Given the description of an element on the screen output the (x, y) to click on. 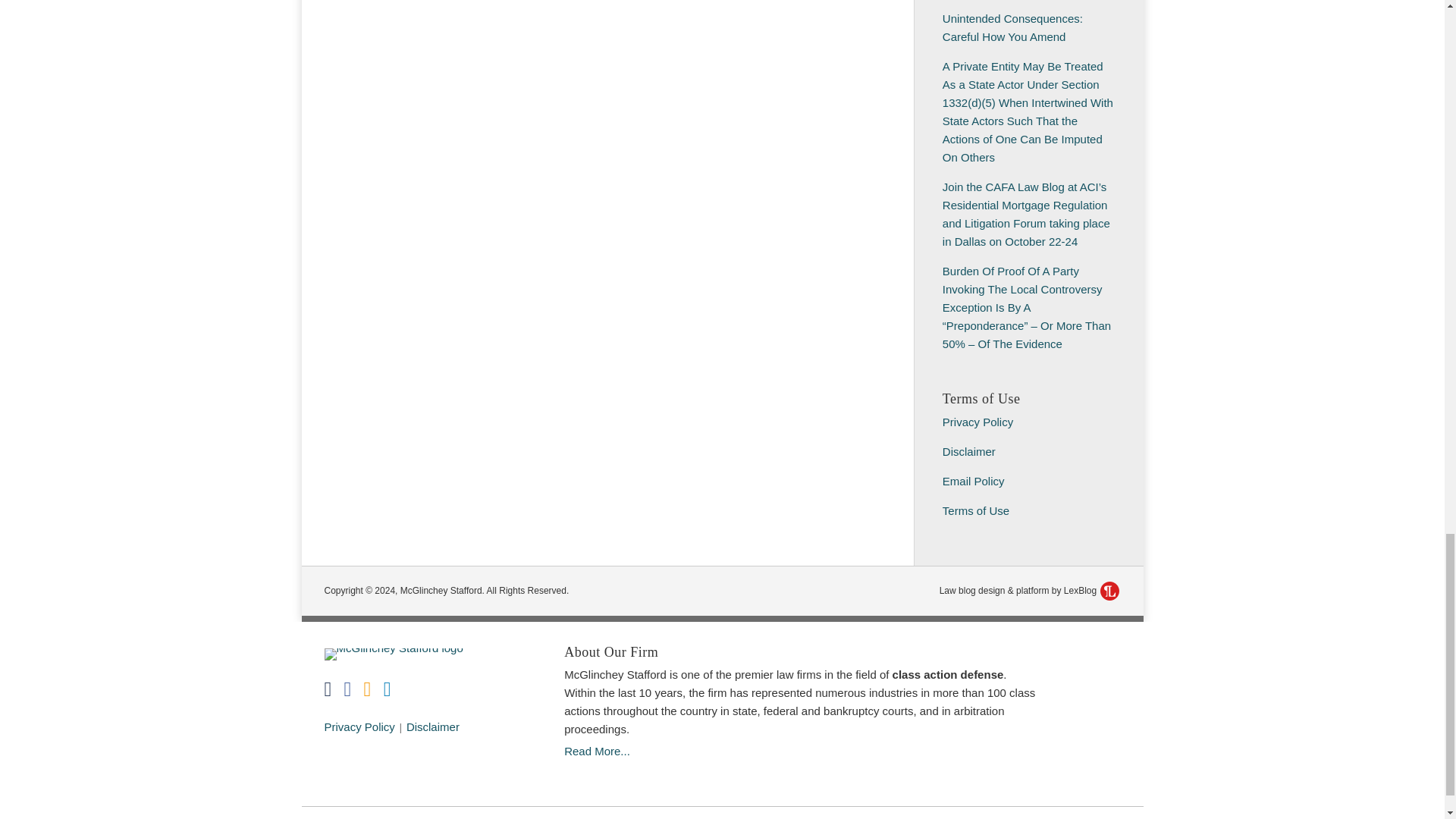
LexBlog Logo (1109, 590)
